Given the description of an element on the screen output the (x, y) to click on. 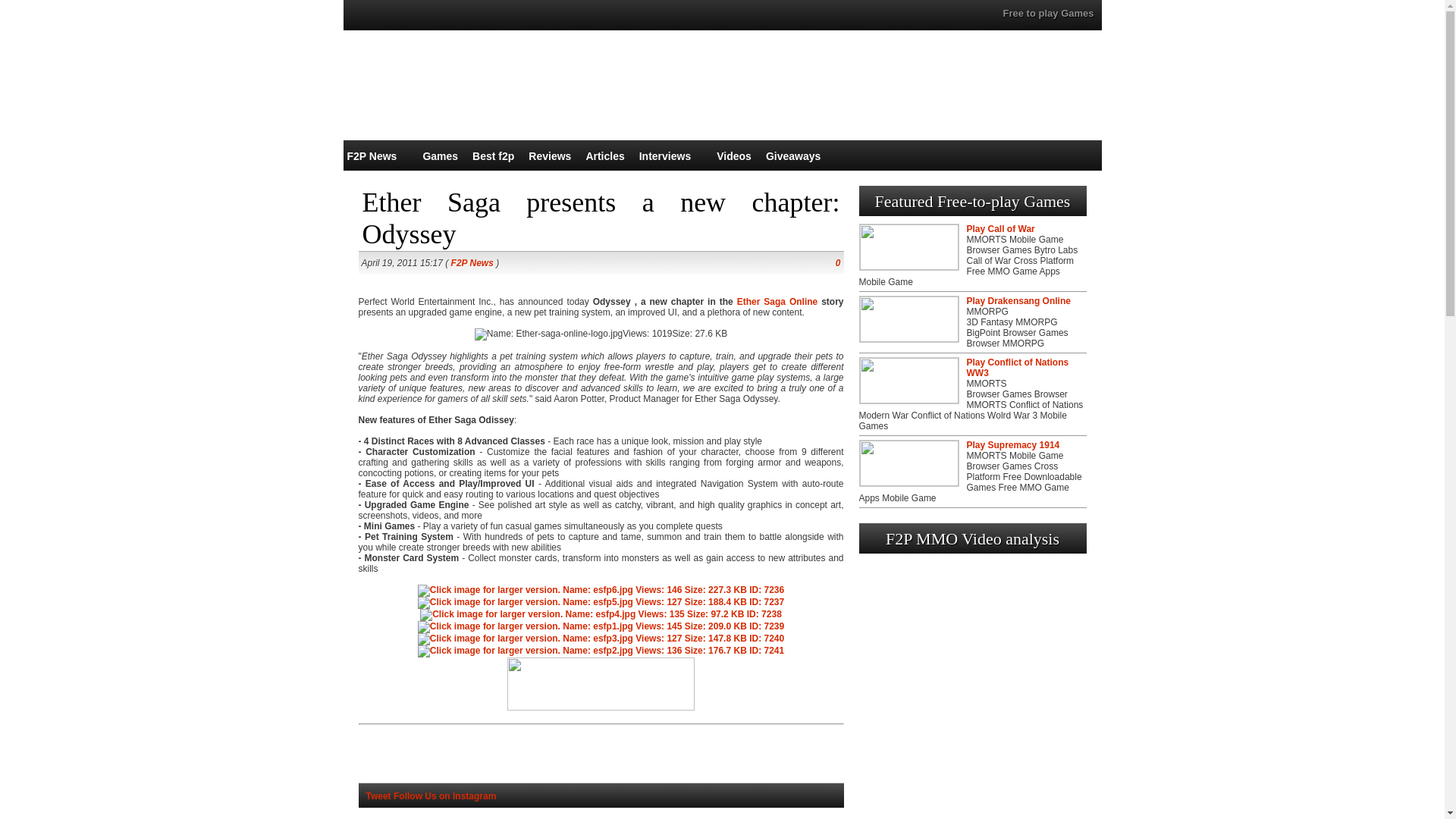
Free to play Games (1048, 12)
Play Supremacy 1914 (1012, 444)
Follow Us on Instagram (444, 796)
Reviews (549, 155)
Games (440, 155)
Play Call of War (999, 228)
Videos (733, 155)
Best f2p (492, 155)
Giveaways (793, 155)
Tweet (377, 796)
